Given the description of an element on the screen output the (x, y) to click on. 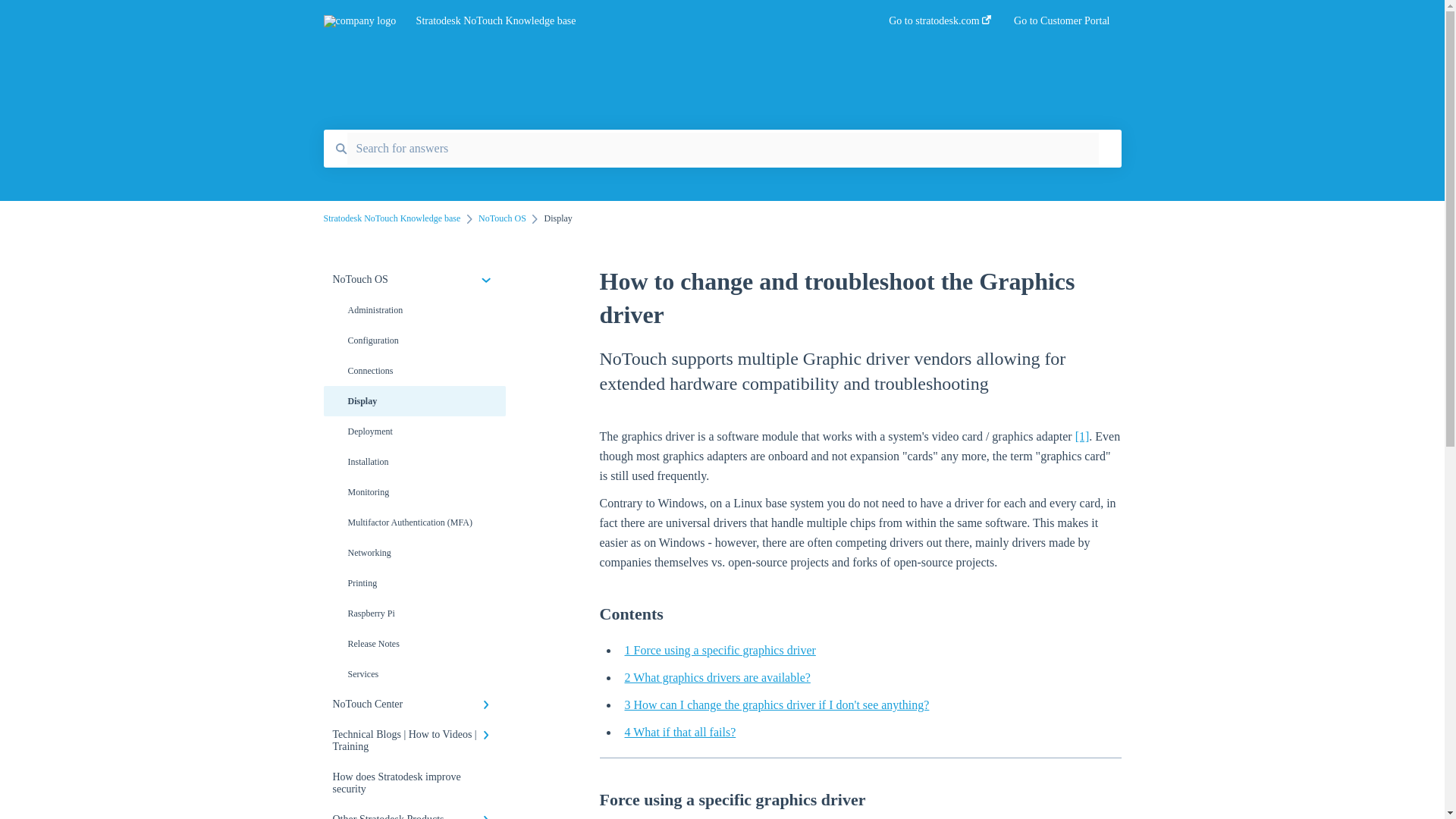
Go to stratodesk.com (939, 25)
Stratodesk NoTouch Knowledge base (630, 21)
Go to Customer Portal (1061, 25)
